Given the description of an element on the screen output the (x, y) to click on. 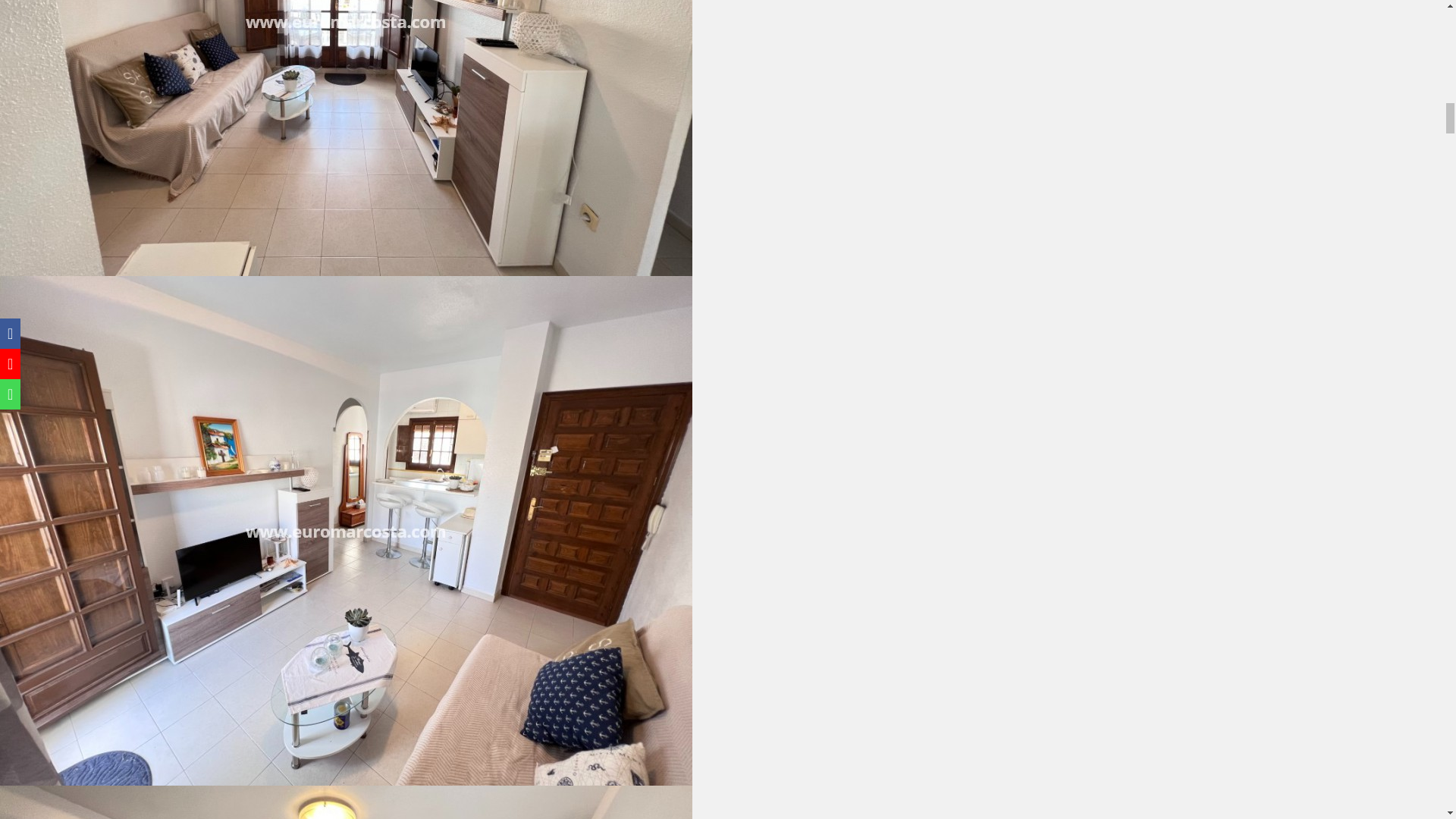
Short time rental - Penthouse - Torrevieja - TORREVIEJA (346, 802)
